Given the description of an element on the screen output the (x, y) to click on. 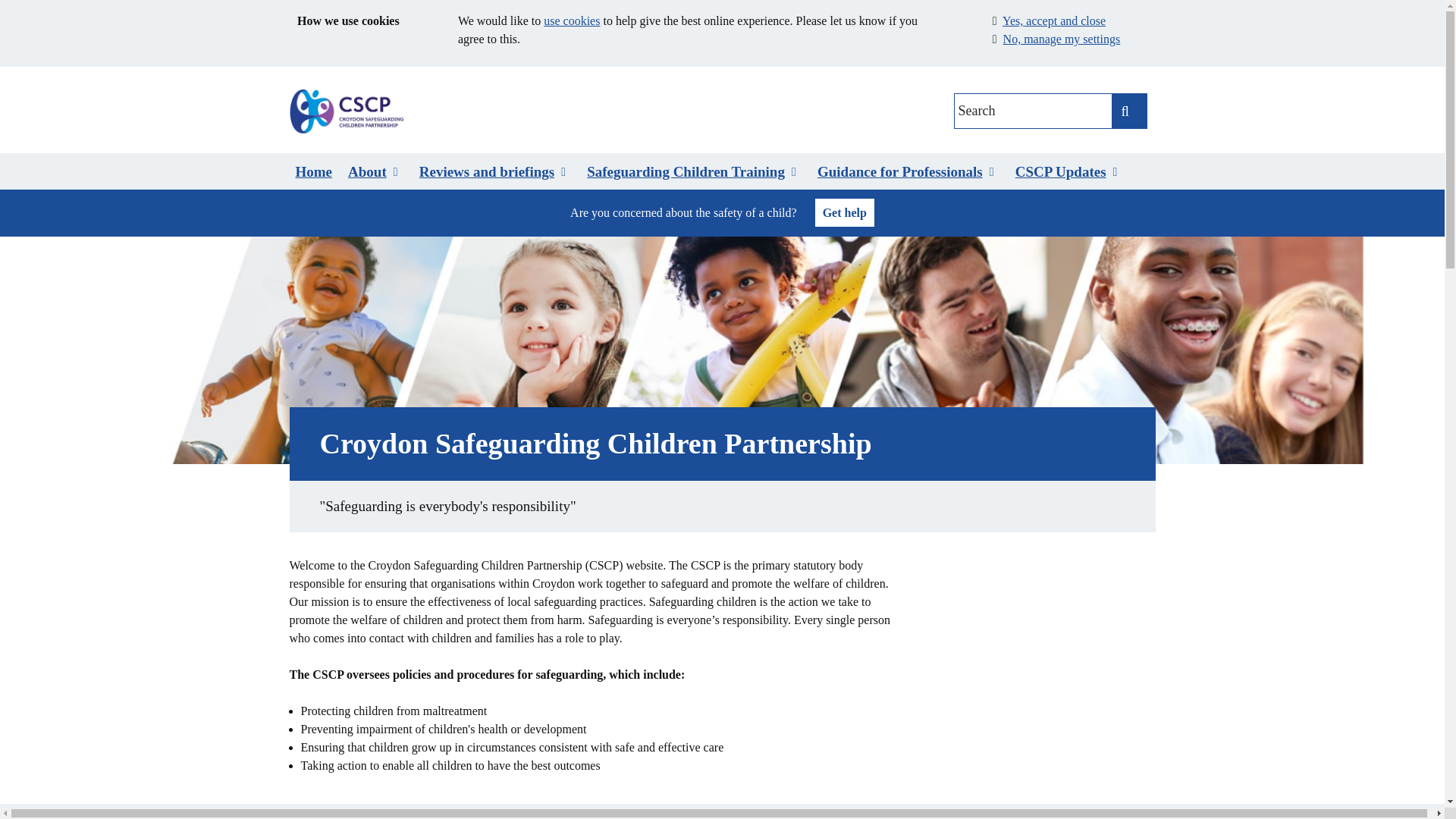
CSCP reviews and briefings (494, 172)
Guidance and resources (908, 172)
Yes, accept and close (1054, 20)
use cookies (571, 20)
About (375, 172)
No, manage my settings (1062, 38)
Skip to main content (14, 80)
Home (314, 172)
Apply (1128, 110)
